Given the description of an element on the screen output the (x, y) to click on. 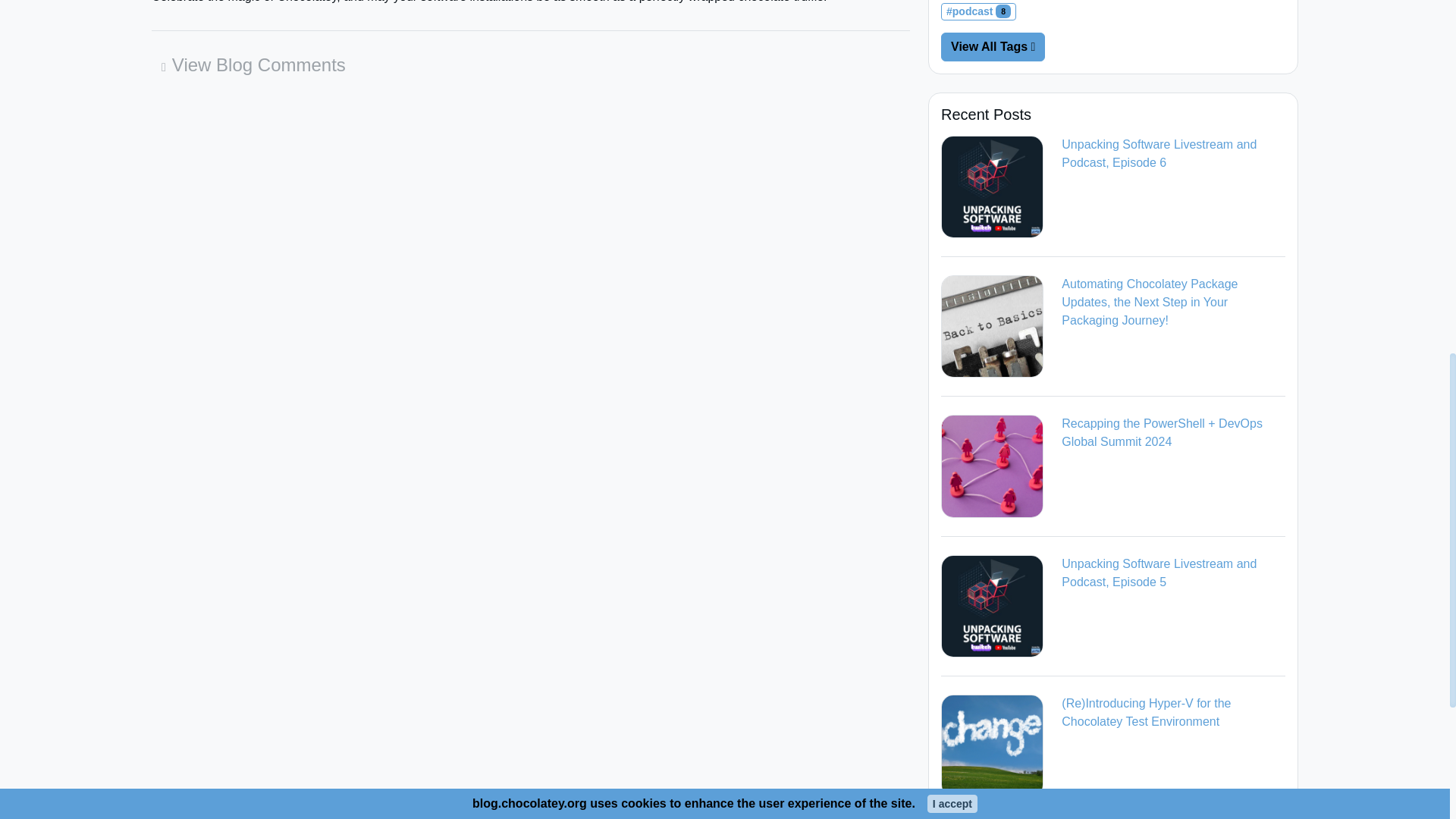
View Blog Comments (253, 65)
Unpacking Software Livestream and Podcast, Episode 5 (991, 606)
Link to Unpacking Software Livestream and Podcast, Episode 6 (991, 185)
Unpacking Software Livestream and Podcast, Episode 6 (991, 186)
Link to Unpacking Software Livestream and Podcast, Episode 5 (991, 604)
